Given the description of an element on the screen output the (x, y) to click on. 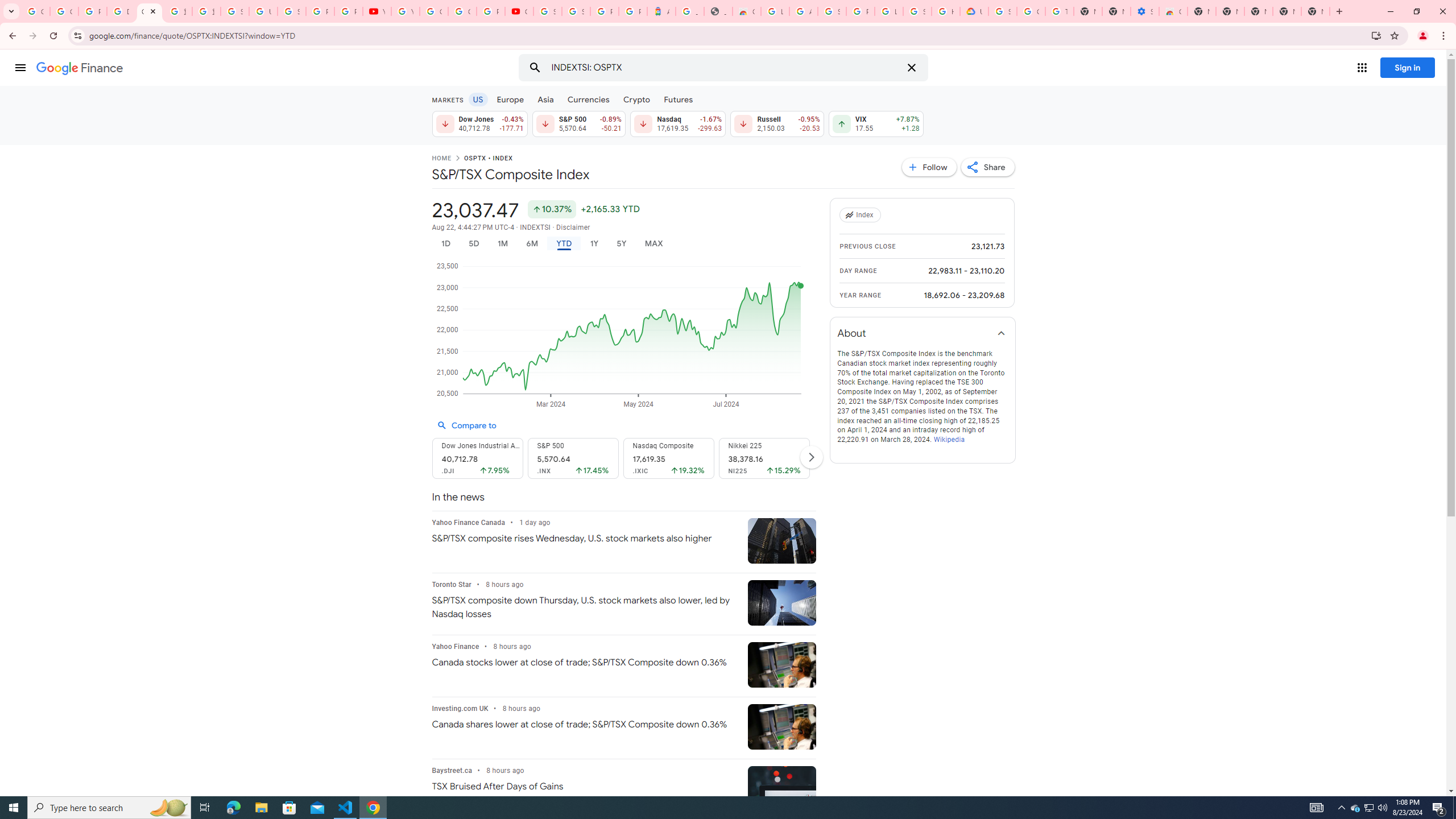
Sign in - Google Accounts (1002, 11)
5D (473, 243)
S&P 500 5,570.64 Down by 0.89% -50.21 (578, 123)
Chrome Web Store - Accessibility extensions (1173, 11)
Sign in - Google Accounts (575, 11)
Index (861, 214)
